Given the description of an element on the screen output the (x, y) to click on. 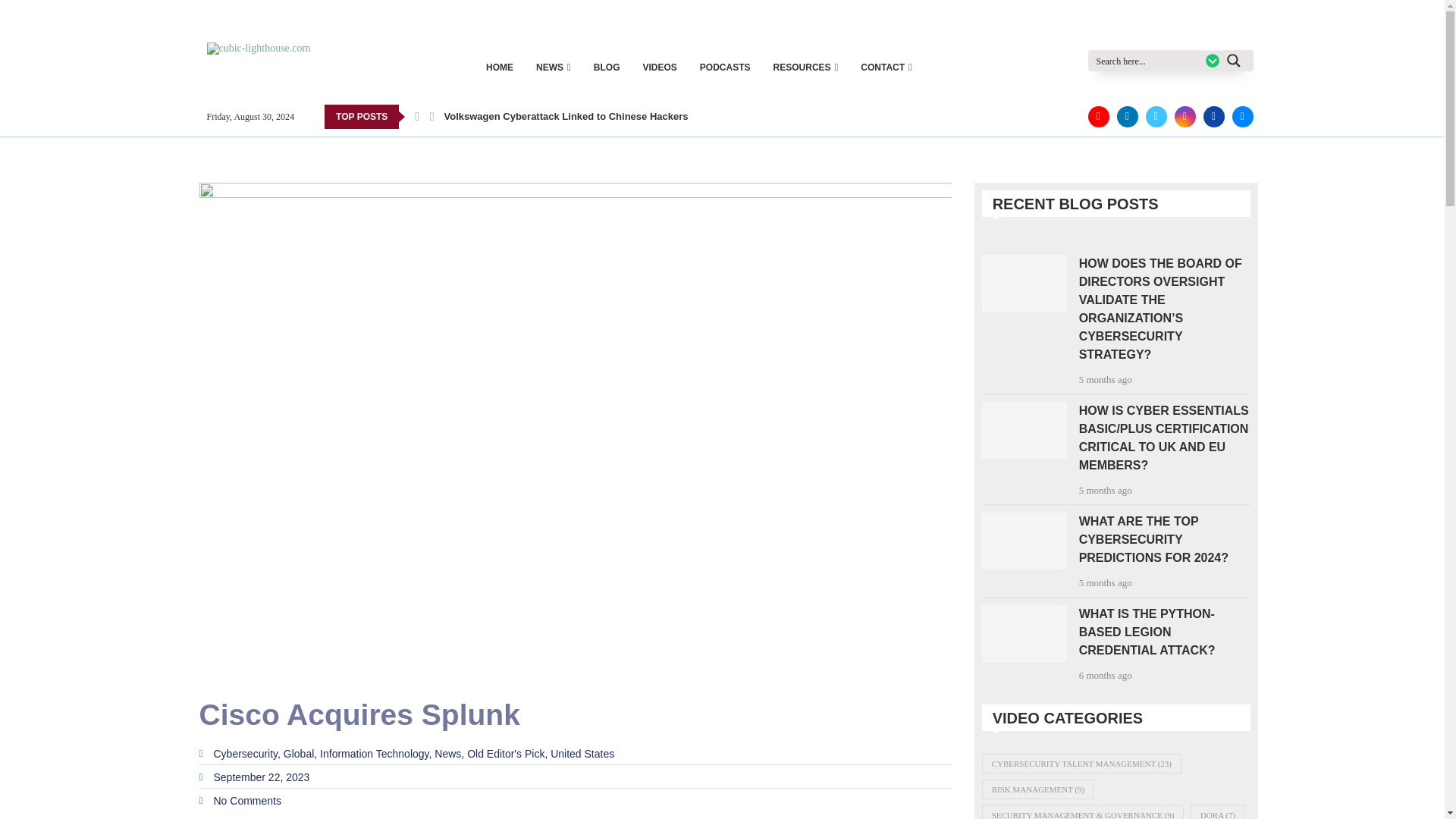
RESOURCES (805, 67)
What are the Top Cybersecurity Predictions for 2024? (1024, 540)
CONTACT (886, 67)
What is the Python-based Legion Credential Attack? (1024, 633)
PODCASTS (725, 67)
